Given the description of an element on the screen output the (x, y) to click on. 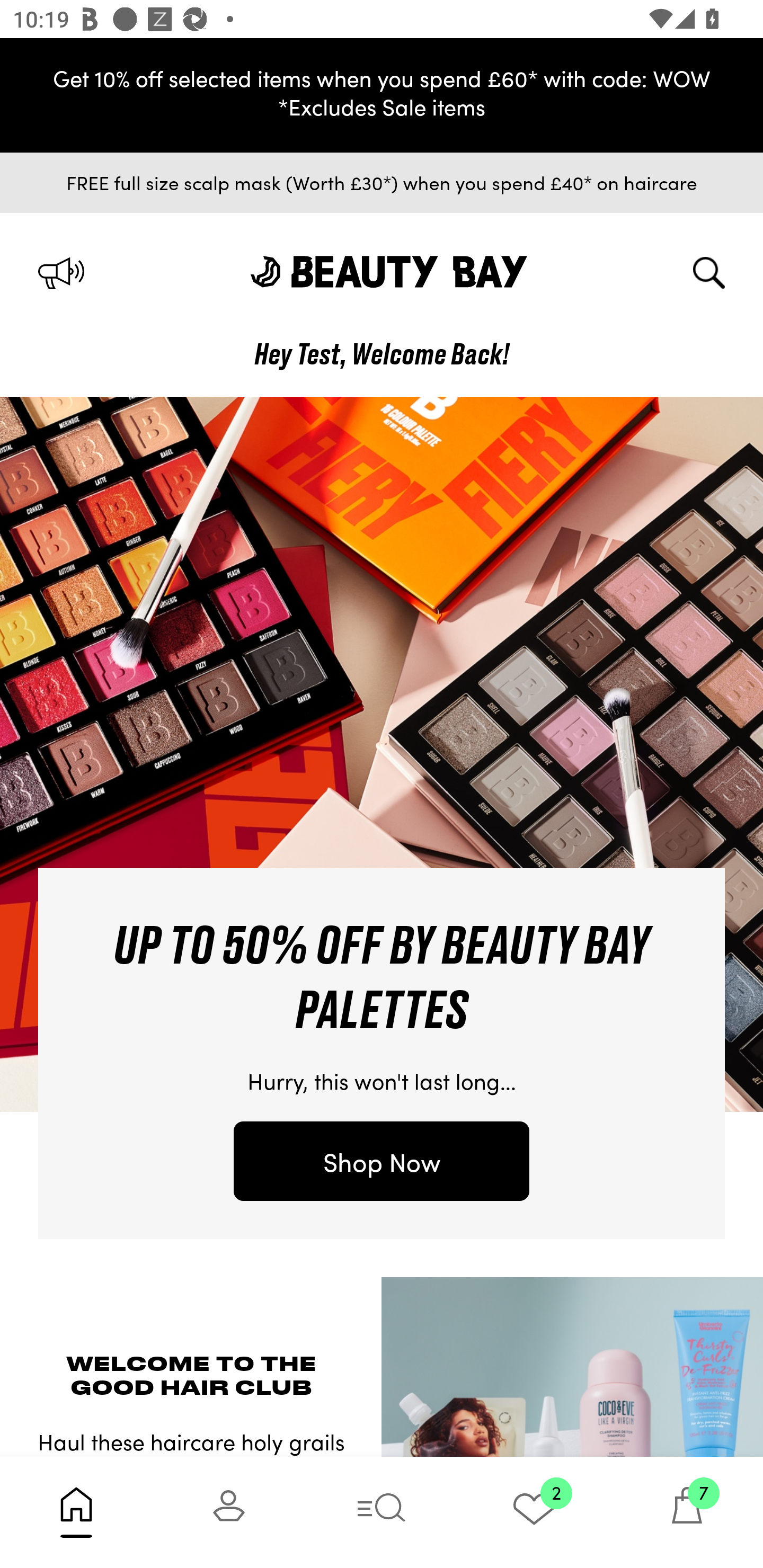
2 (533, 1512)
7 (686, 1512)
